Given the description of an element on the screen output the (x, y) to click on. 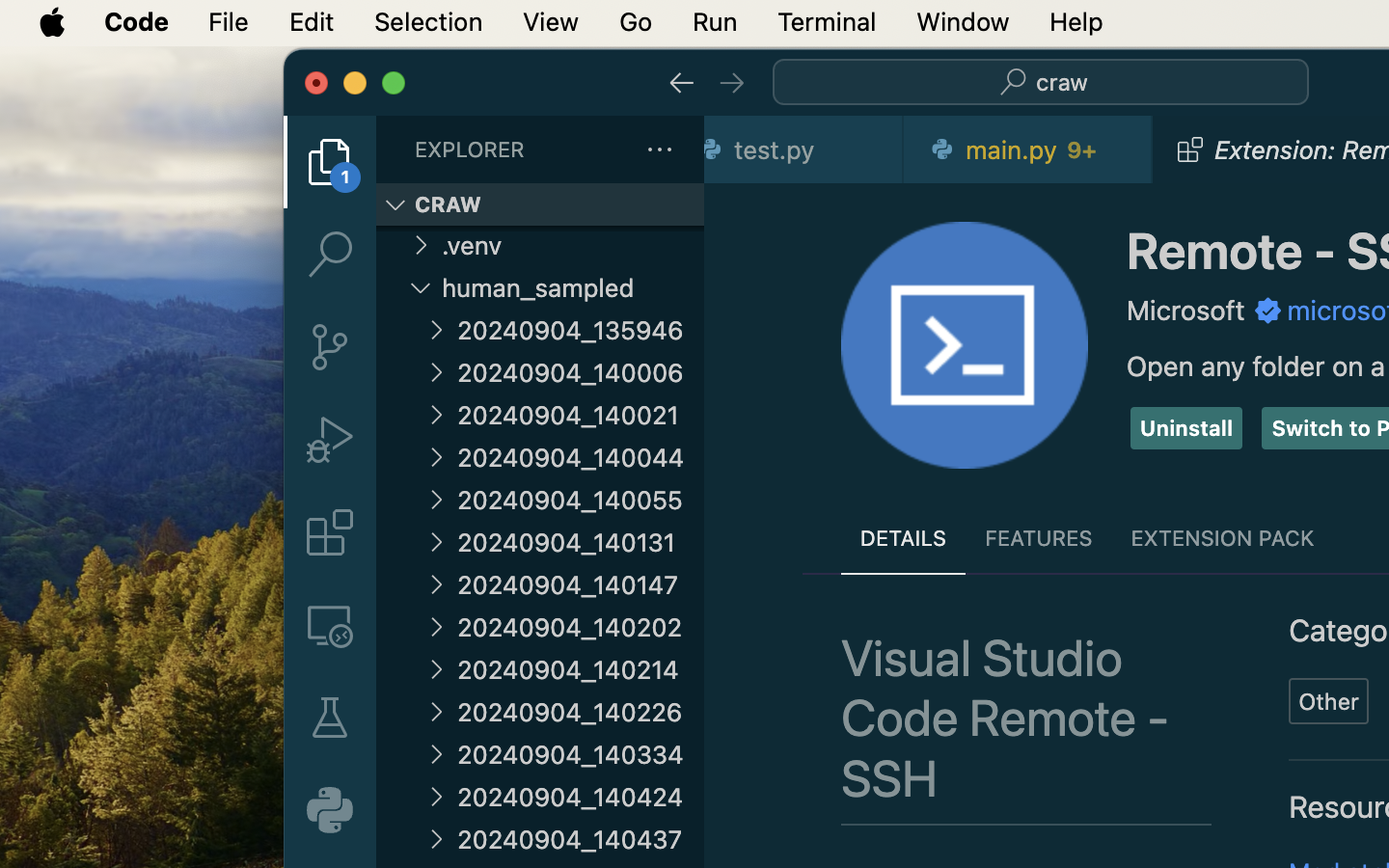
20240904_140214 Element type: AXGroup (580, 669)
EXPLORER Element type: AXStaticText (469, 149)
Visual Studio Code Remote - SSH Element type: AXStaticText (1005, 718)
0 main.py   9+ Element type: AXRadioButton (1028, 149)
20240904_140055 Element type: AXGroup (580, 499)
